Given the description of an element on the screen output the (x, y) to click on. 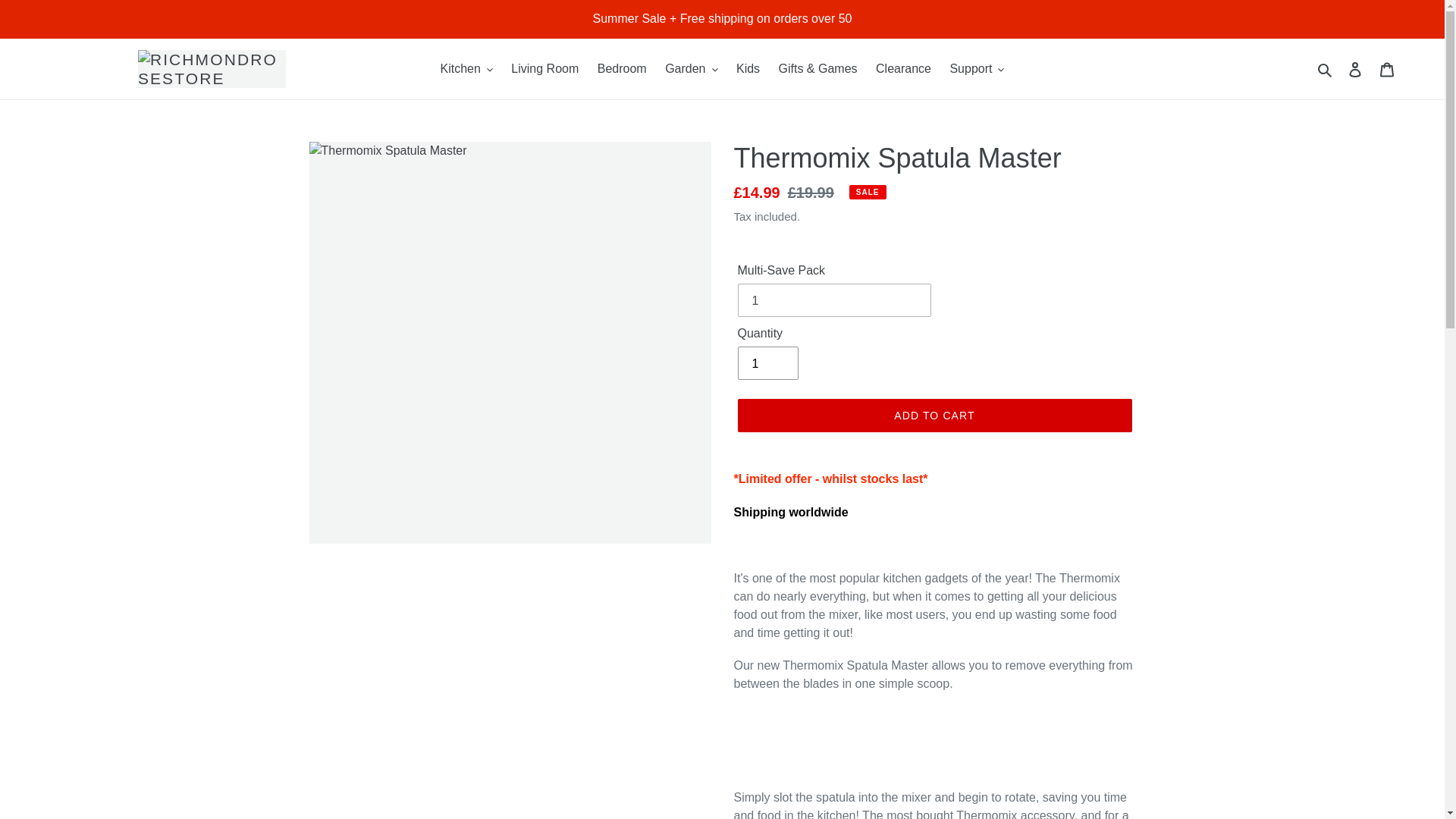
Log in (1355, 68)
Search (1326, 68)
Support (976, 68)
Garden (691, 68)
Clearance (903, 68)
Kids (748, 68)
Kitchen (466, 68)
Bedroom (621, 68)
1 (766, 363)
Living Room (544, 68)
